Given the description of an element on the screen output the (x, y) to click on. 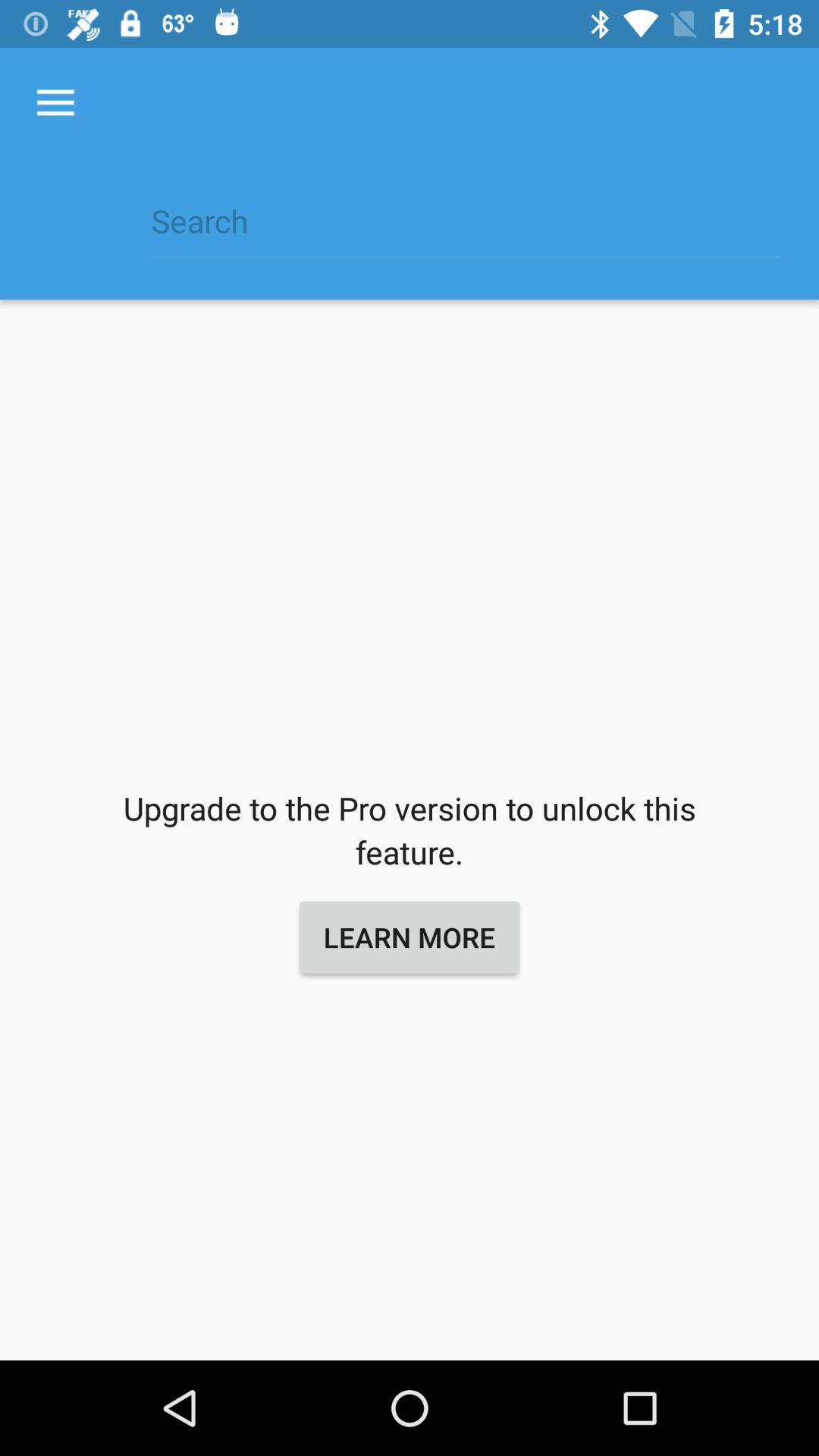
turn on the learn more item (409, 937)
